Given the description of an element on the screen output the (x, y) to click on. 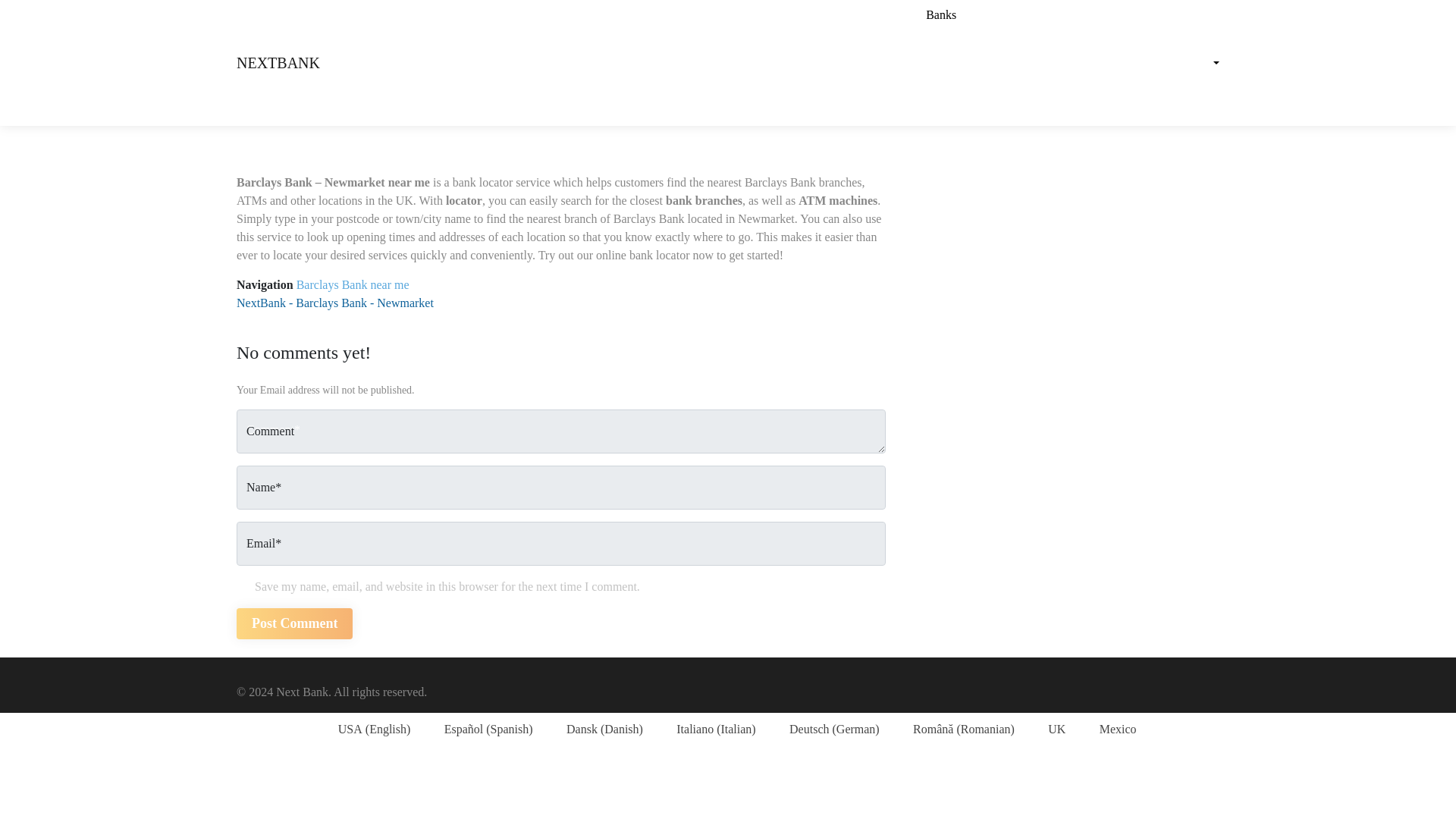
Barclays Bank near me (353, 284)
NextBank (260, 302)
UK (1048, 729)
Mexico (1107, 729)
Banks (929, 14)
Banks (929, 14)
Post Comment (293, 623)
NEXTBANK (277, 62)
Barclays Bank (330, 302)
Post Comment (293, 623)
Next Bank (277, 62)
